Given the description of an element on the screen output the (x, y) to click on. 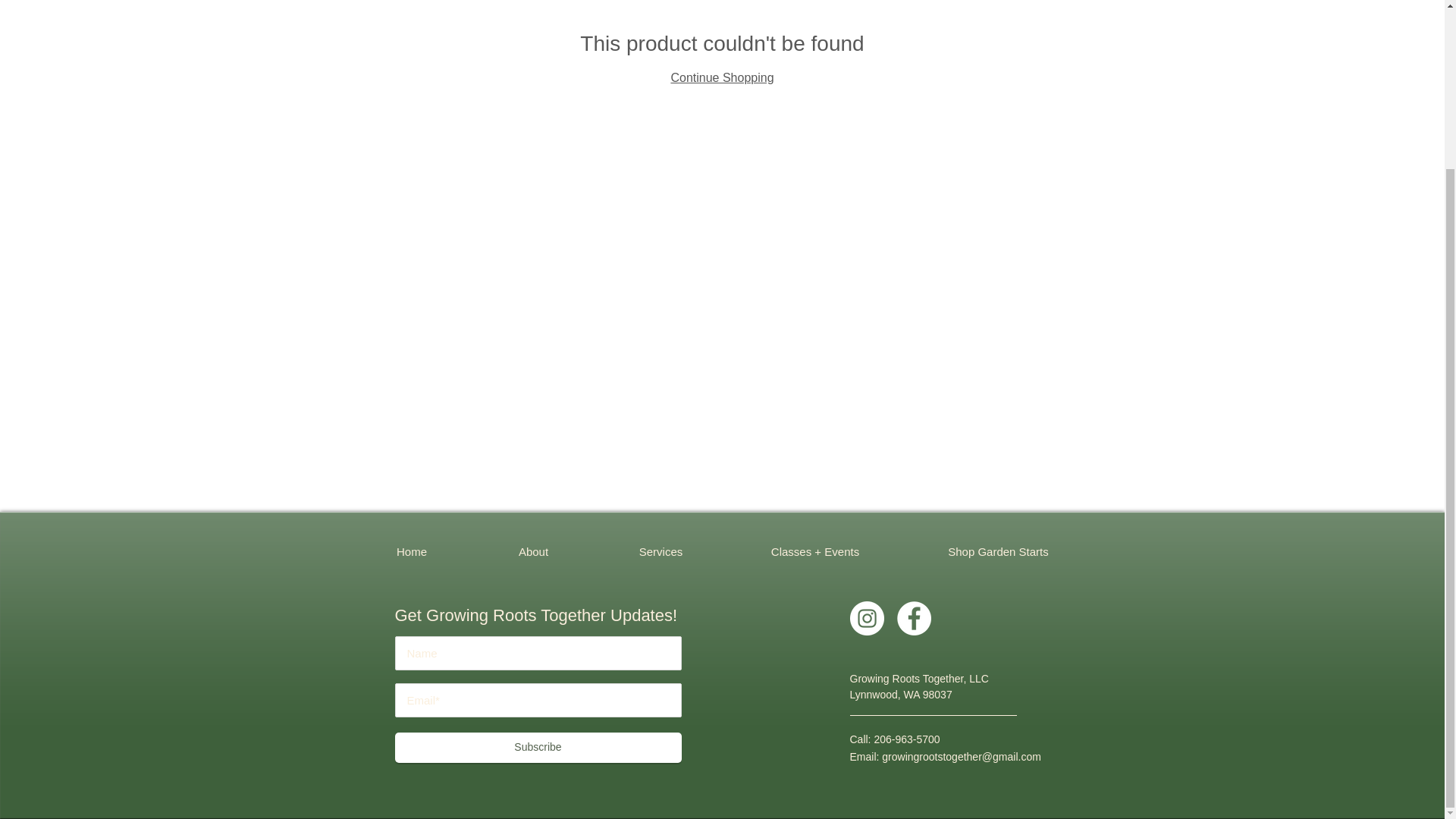
Continue Shopping (721, 77)
Shop Garden Starts (997, 551)
Home (410, 551)
Services (661, 551)
Subscribe (537, 747)
About (533, 551)
